Given the description of an element on the screen output the (x, y) to click on. 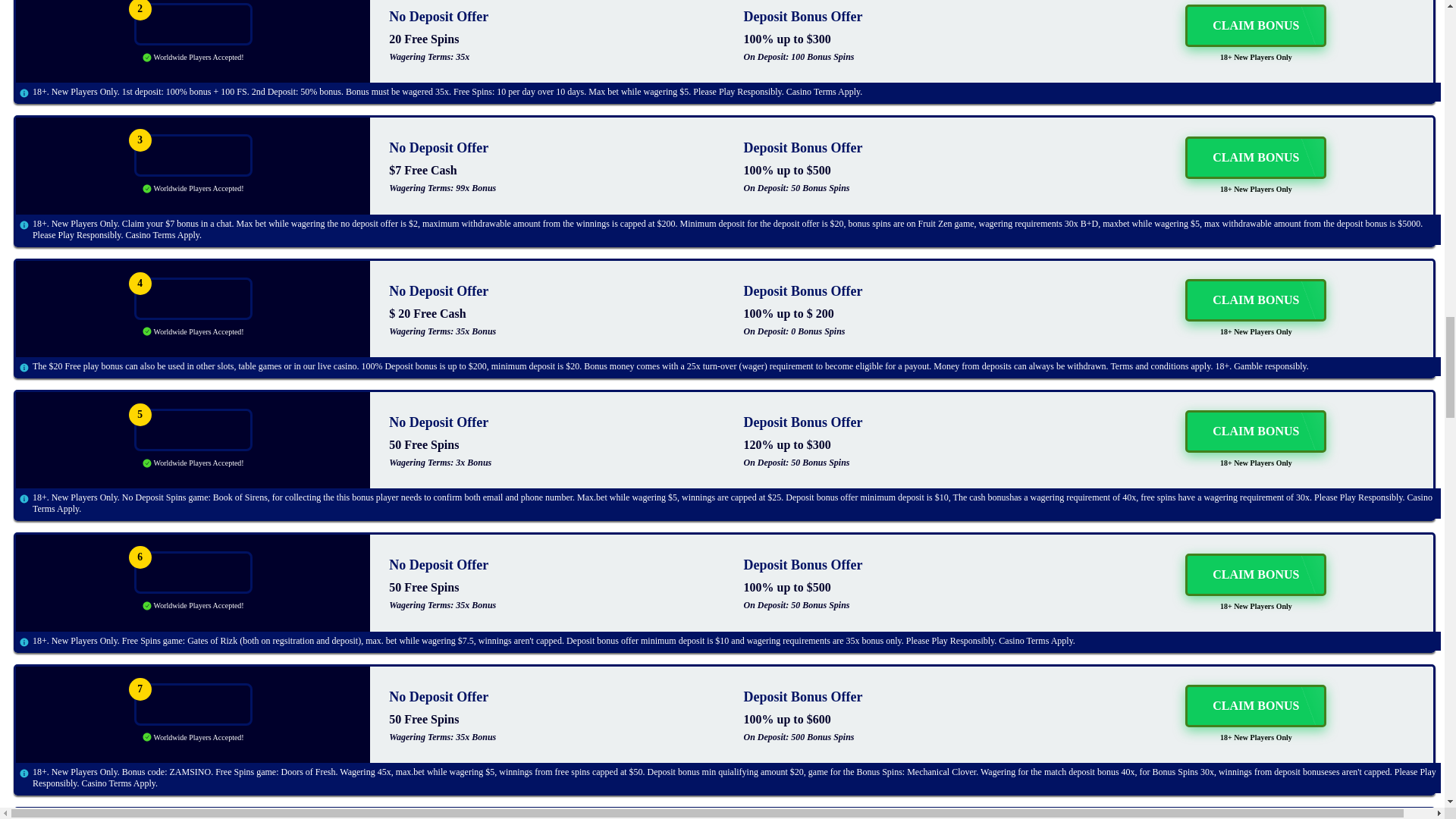
CLAIM BONUS (1255, 431)
CLAIM BONUS (1255, 157)
CLAIM BONUS (1255, 25)
CLAIM BONUS (1255, 574)
CLAIM BONUS (1255, 705)
CLAIM BONUS (1255, 300)
